Given the description of an element on the screen output the (x, y) to click on. 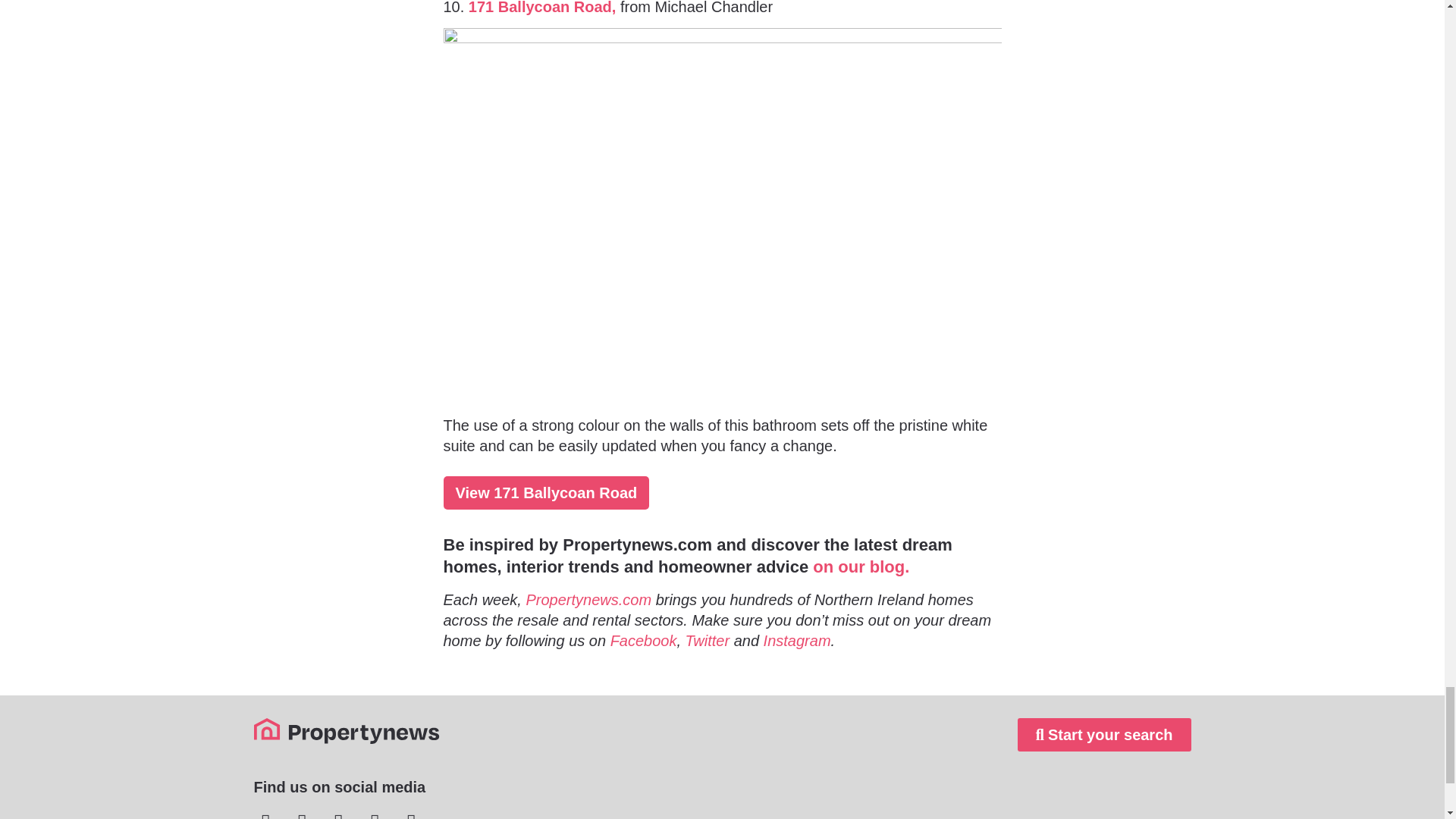
View 171 Ballycoan Road (545, 492)
Twitter (707, 640)
171 Ballycoan Road, (541, 7)
on our blog. (860, 566)
Propertynews.com (587, 599)
Facebook (643, 640)
Instagram (796, 640)
